Given the description of an element on the screen output the (x, y) to click on. 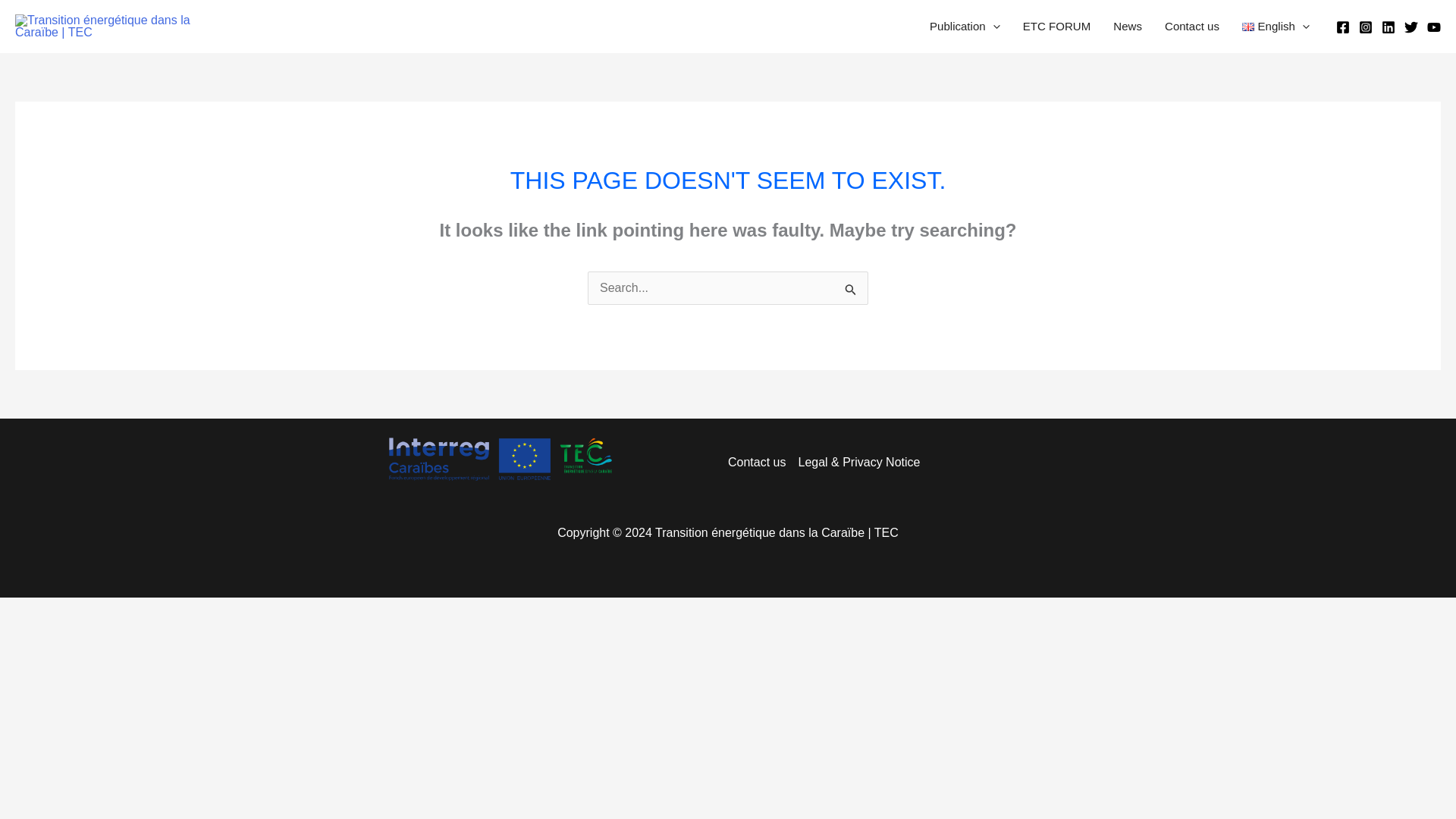
Search (850, 290)
Publication (964, 26)
News (1127, 26)
Contact us (1191, 26)
Search (850, 290)
ETC FORUM (1056, 26)
English (1275, 26)
Contact us (760, 462)
Search (850, 290)
